Given the description of an element on the screen output the (x, y) to click on. 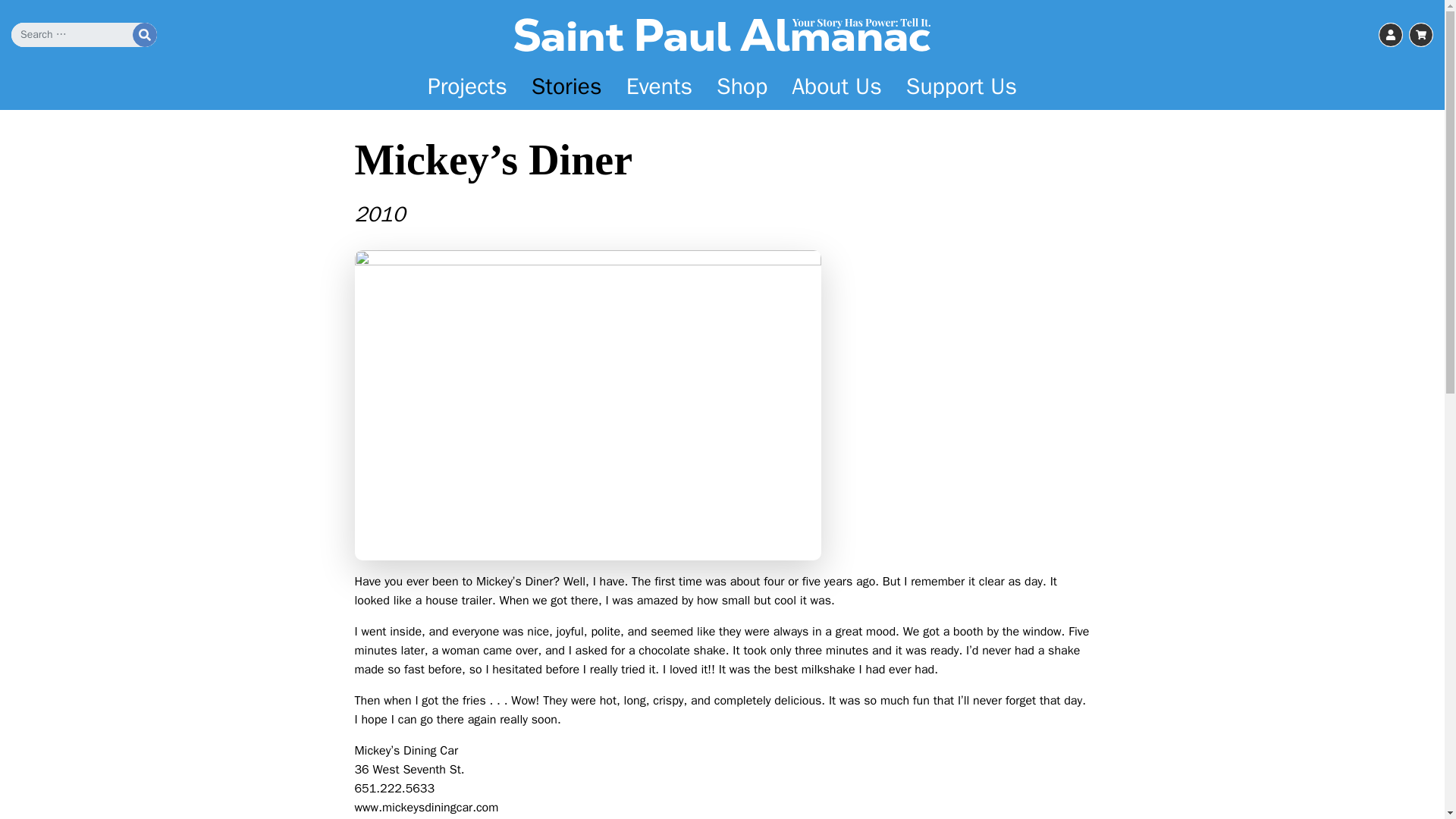
Events (659, 86)
Shop (741, 86)
Projects (466, 86)
Cart (1420, 34)
Stories (566, 86)
Support Us (961, 86)
Account (1390, 34)
About Us (835, 86)
 SEARCH (144, 34)
